Given the description of an element on the screen output the (x, y) to click on. 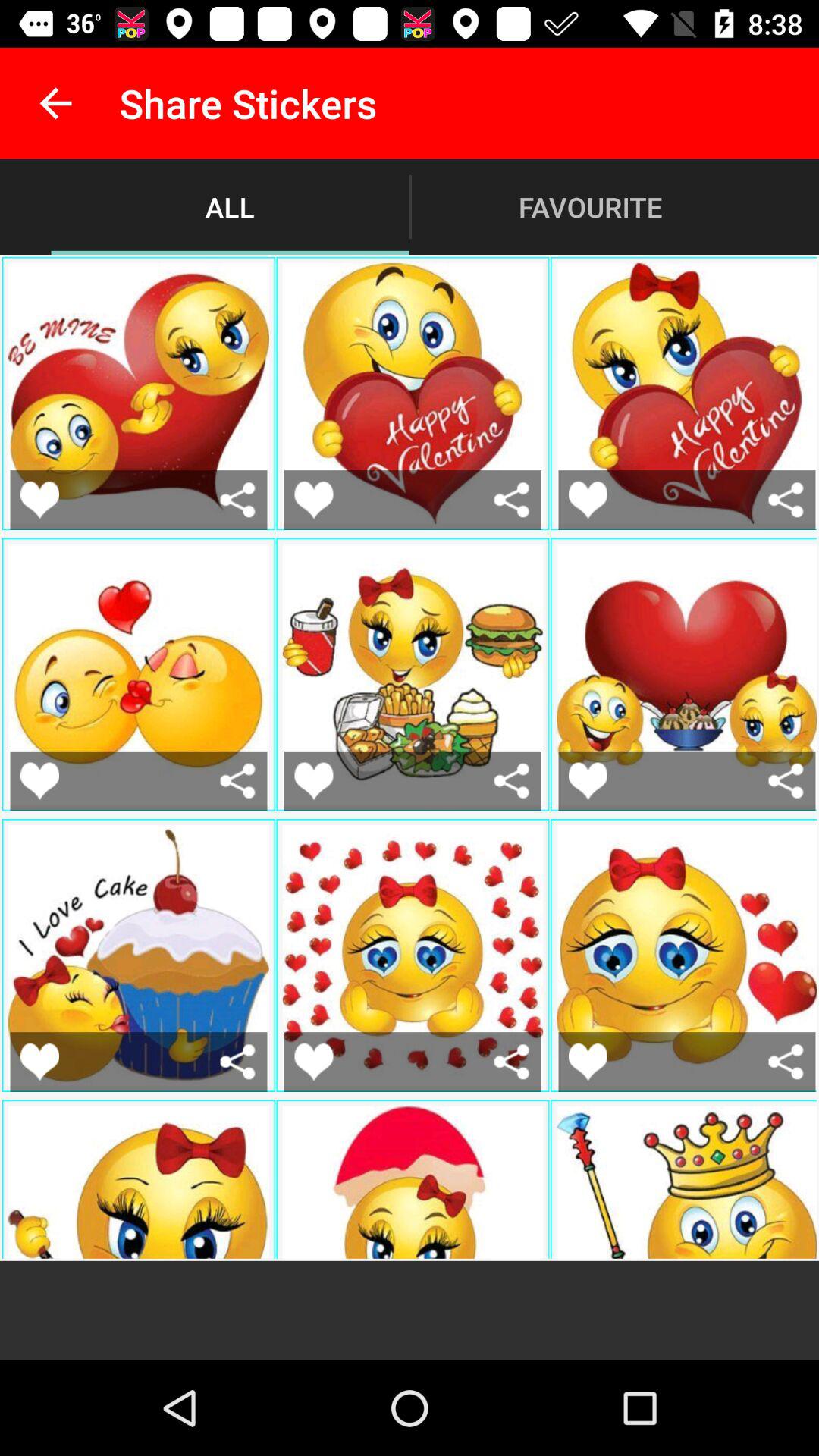
share (511, 499)
